Given the description of an element on the screen output the (x, y) to click on. 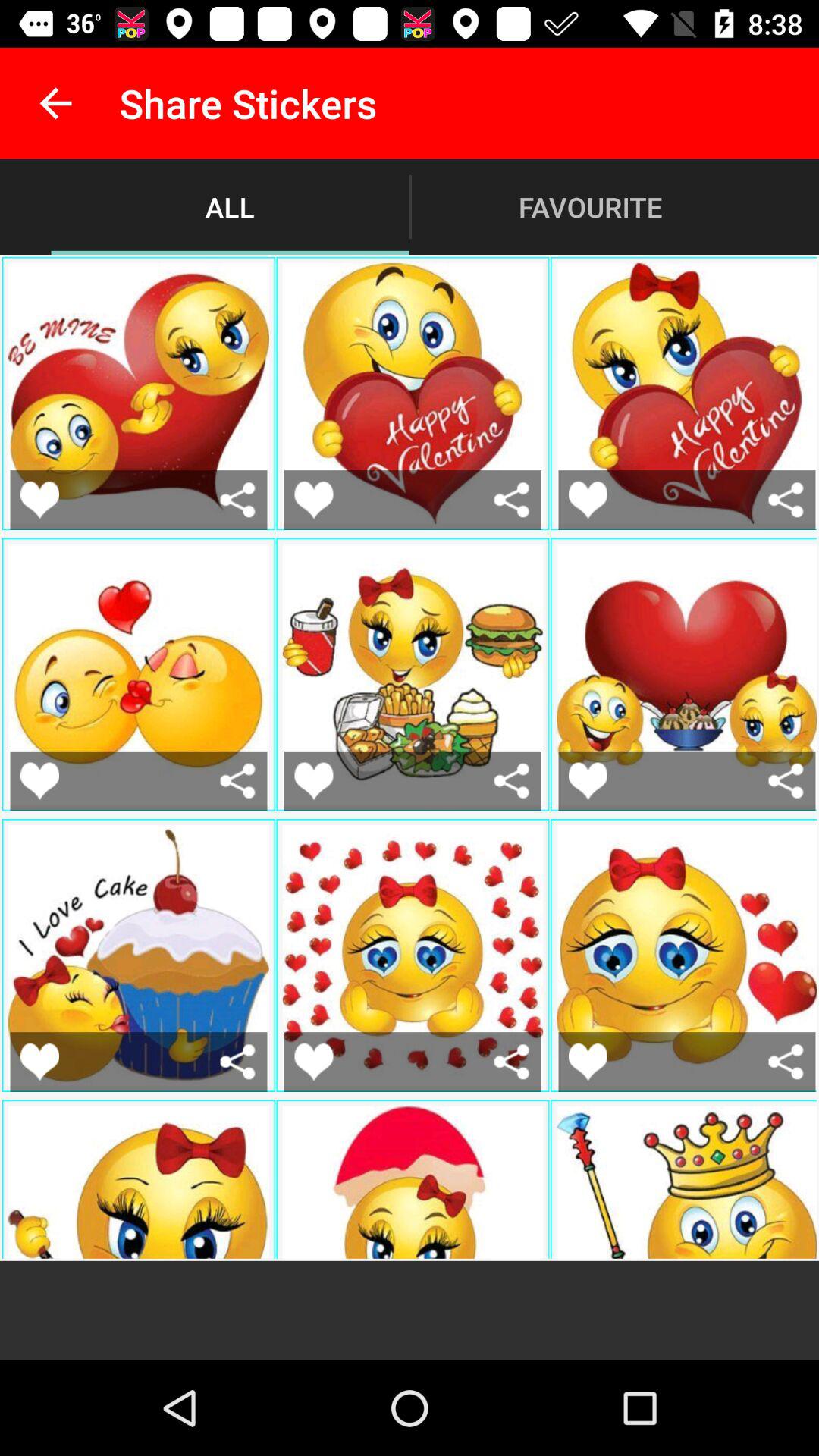
share (511, 499)
